Given the description of an element on the screen output the (x, y) to click on. 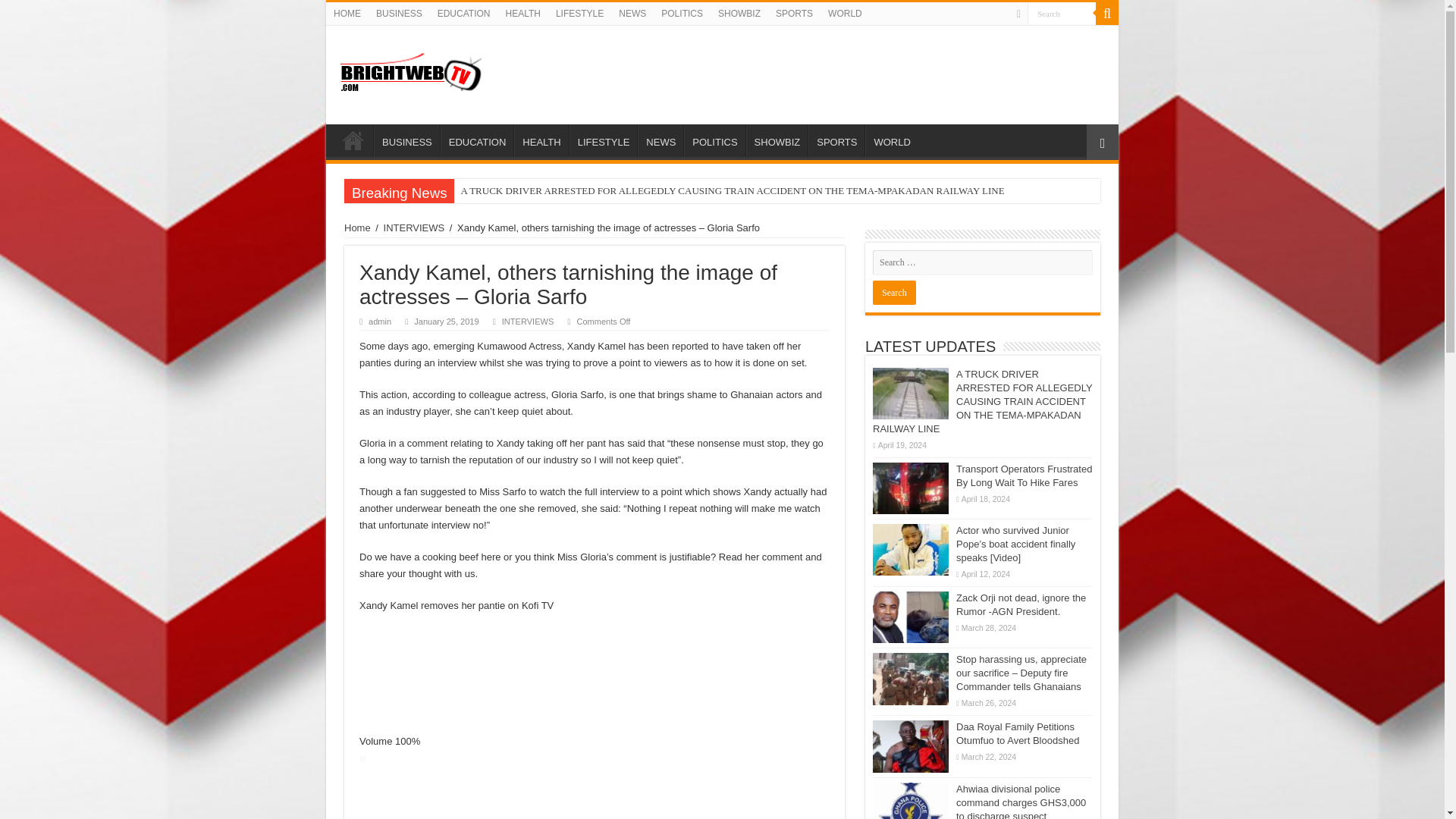
Search (1061, 13)
POLITICS (681, 13)
NEWS (632, 13)
Search (1107, 13)
BUSINESS (406, 140)
WORLD (890, 140)
EDUCATION (463, 13)
BUSINESS (398, 13)
LIFESTYLE (603, 140)
HEALTH (522, 13)
